Given the description of an element on the screen output the (x, y) to click on. 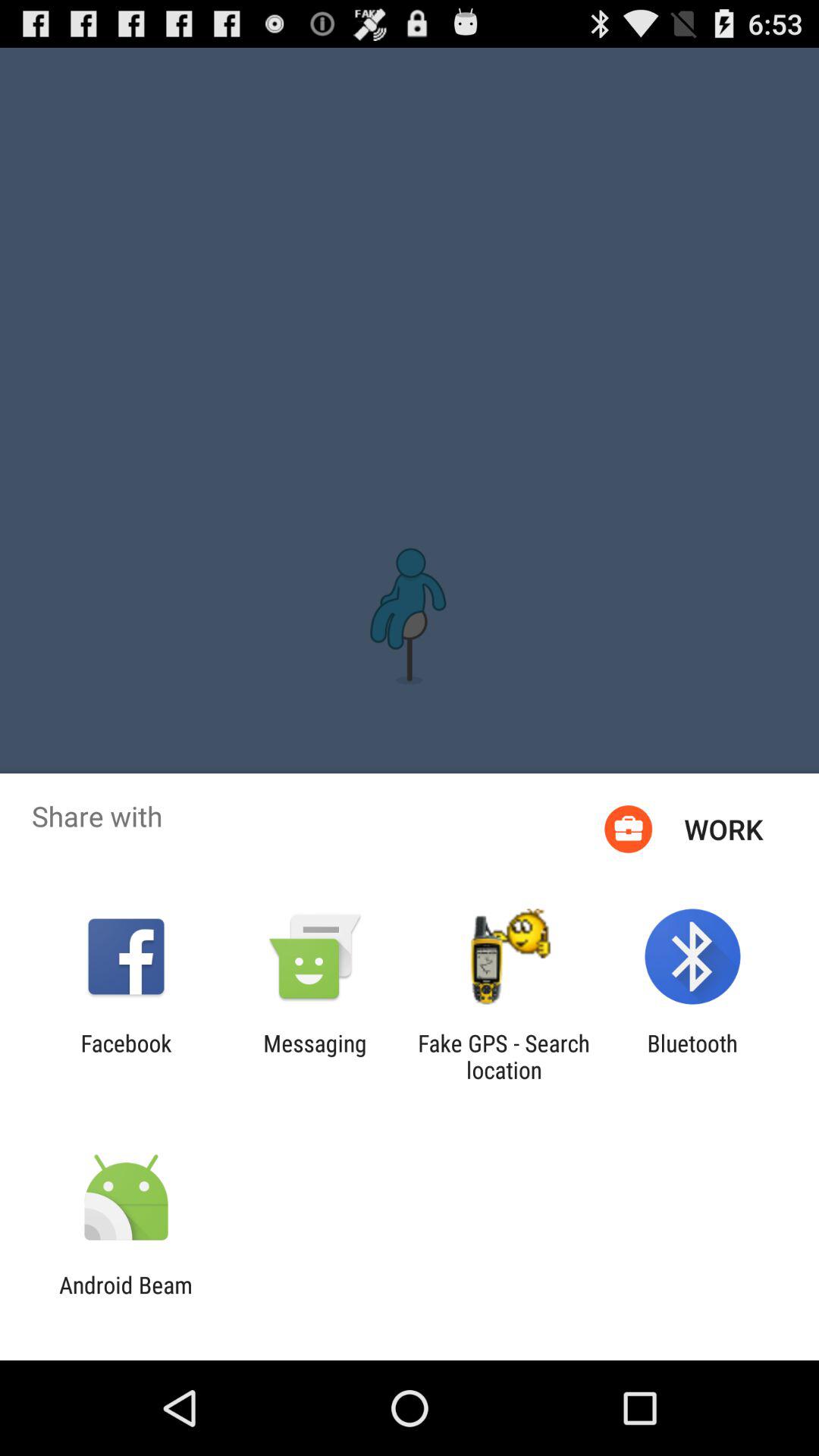
launch the app next to the fake gps search icon (692, 1056)
